Given the description of an element on the screen output the (x, y) to click on. 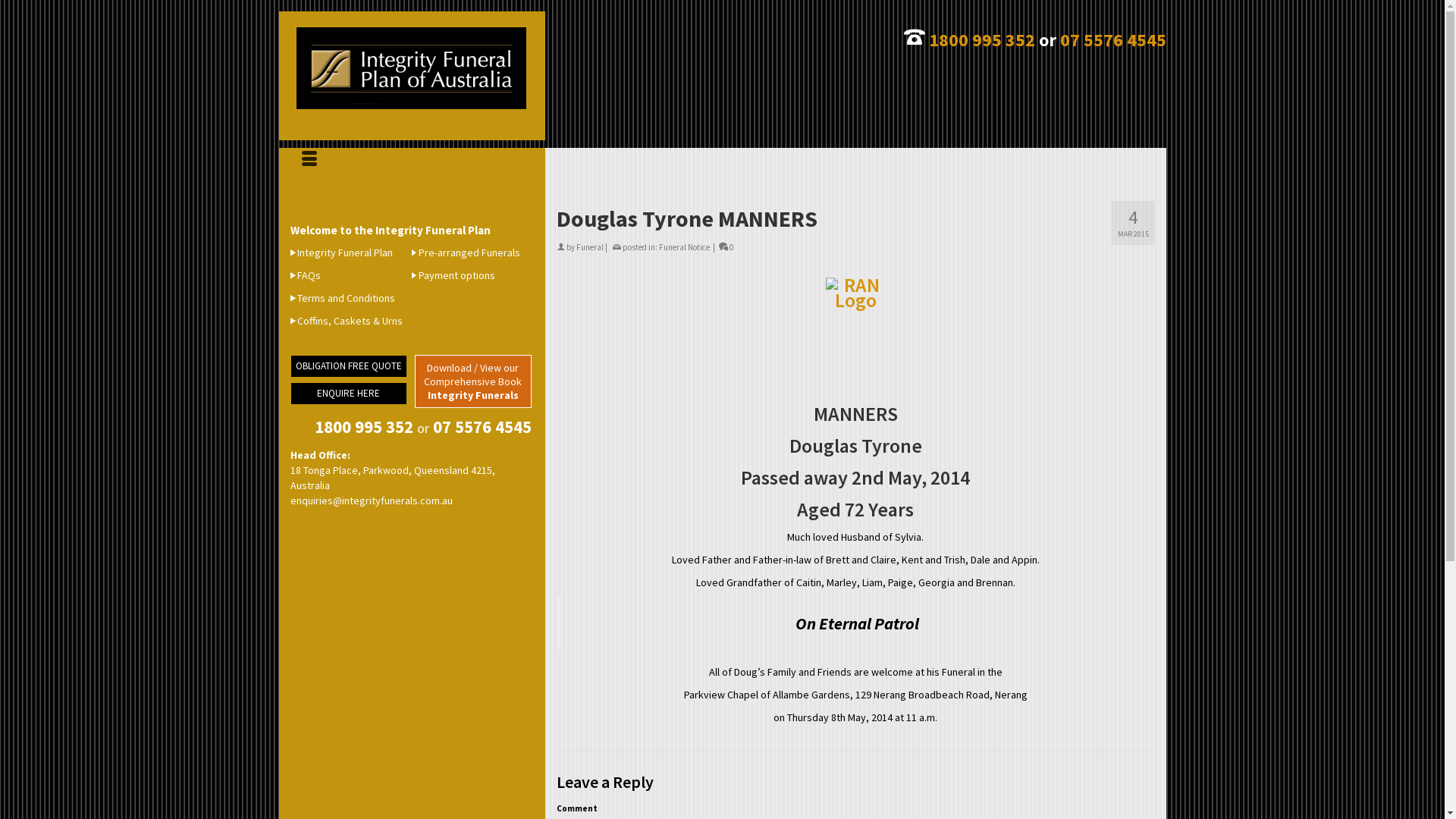
Payment options Element type: text (453, 275)
Download / View our Comprehensive Book Integrity Funerals Element type: text (472, 380)
07 5576 4545 Element type: text (481, 426)
FAQs Element type: text (304, 275)
0 Element type: text (725, 246)
1800 995 352 Element type: text (362, 426)
Integrity Funeral Plan Element type: text (340, 252)
enquiries@integrityfunerals.com.au Element type: text (370, 500)
Funeral Element type: text (589, 246)
ENQUIRE HERE Element type: text (347, 393)
OBLIGATION FREE QUOTE Element type: text (347, 365)
Terms and Conditions Element type: text (341, 297)
1800 995 352 Element type: text (981, 39)
Funeral Notice Element type: text (683, 246)
Coffins, Caskets & Urns Element type: text (345, 320)
Pre-arranged Funerals Element type: text (465, 252)
07 5576 4545 Element type: text (1113, 39)
